Given the description of an element on the screen output the (x, y) to click on. 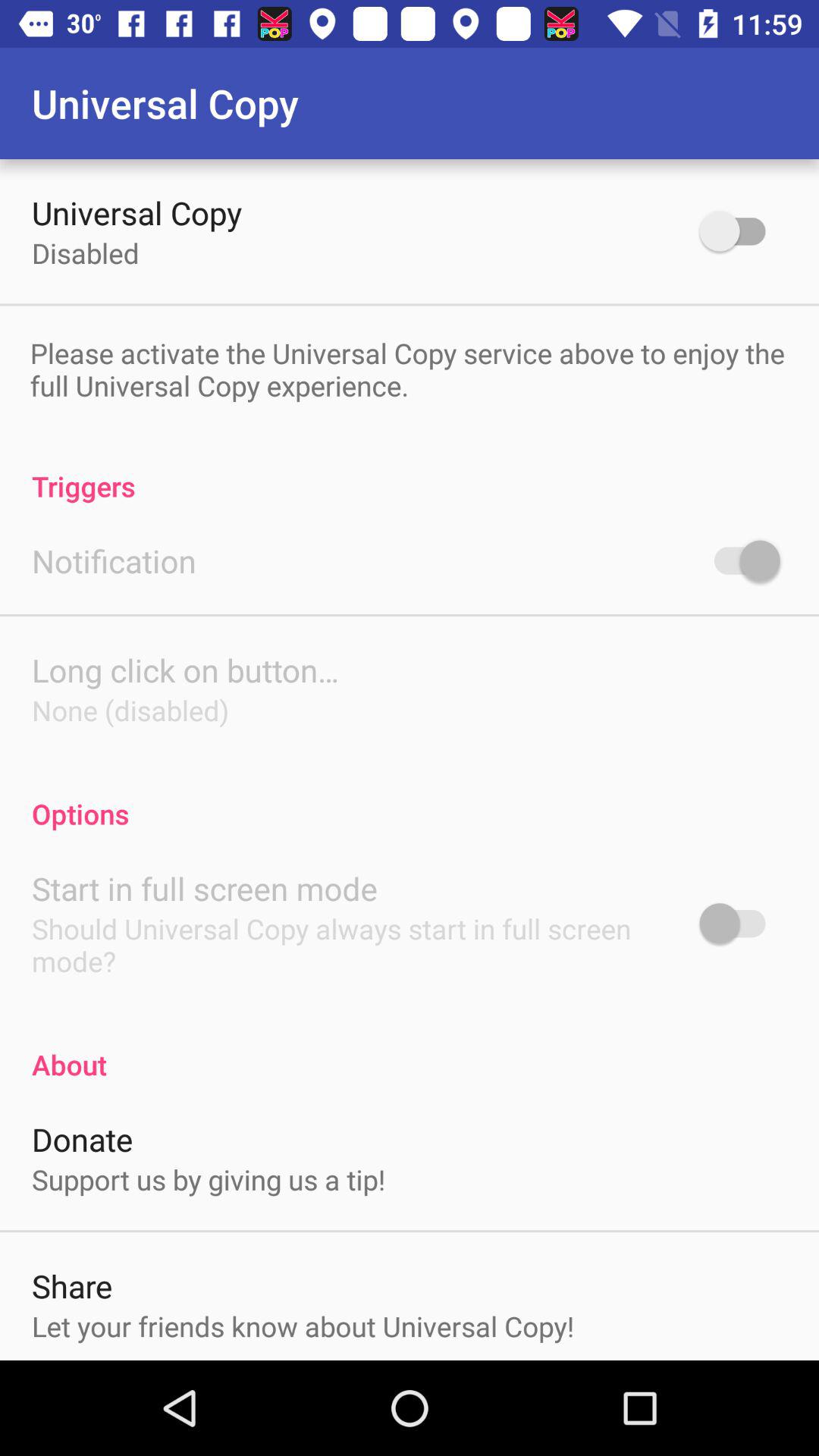
select icon above share item (208, 1179)
